Given the description of an element on the screen output the (x, y) to click on. 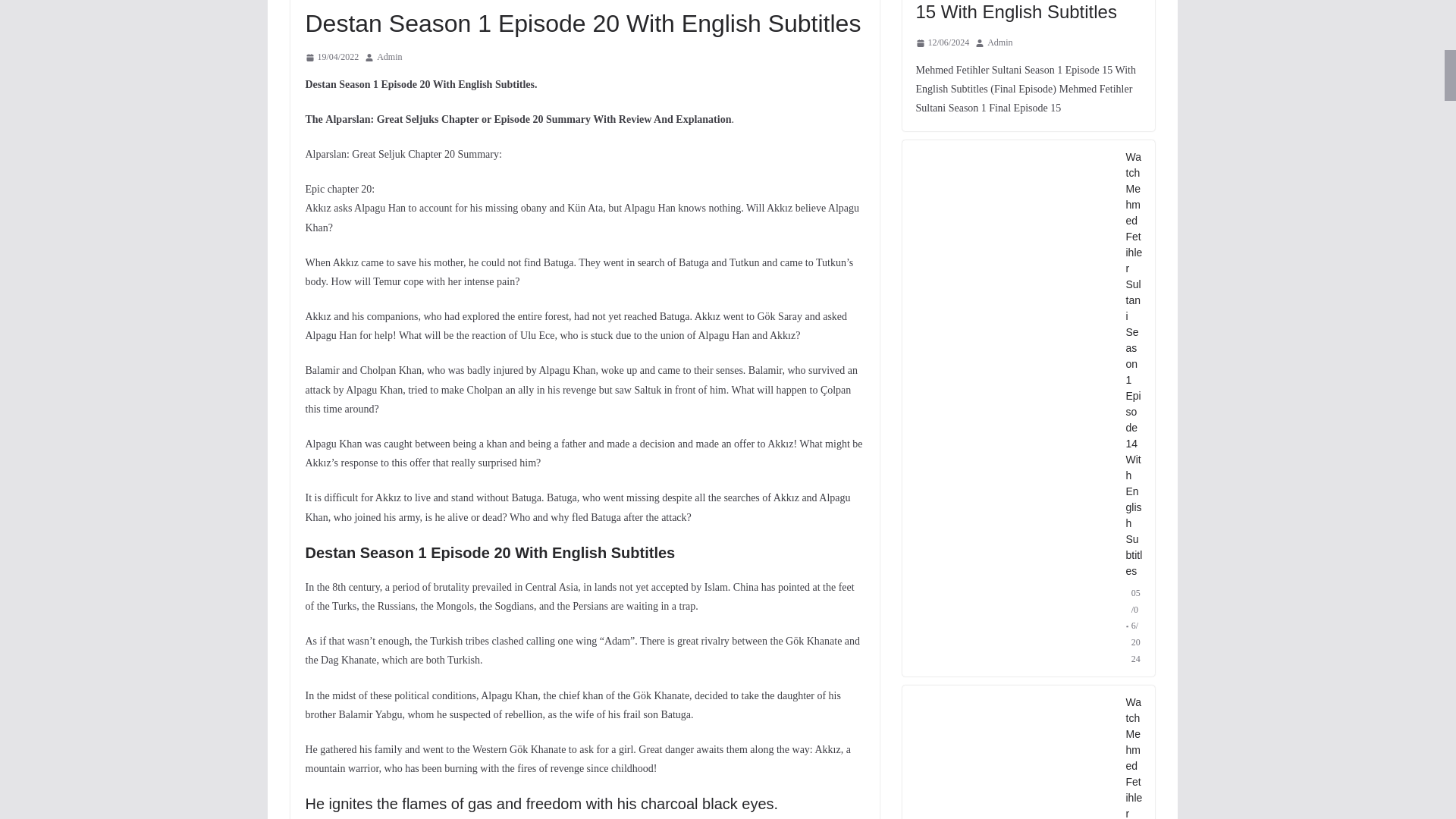
Admin (389, 57)
Admin (389, 57)
7:03 pm (331, 57)
